Given the description of an element on the screen output the (x, y) to click on. 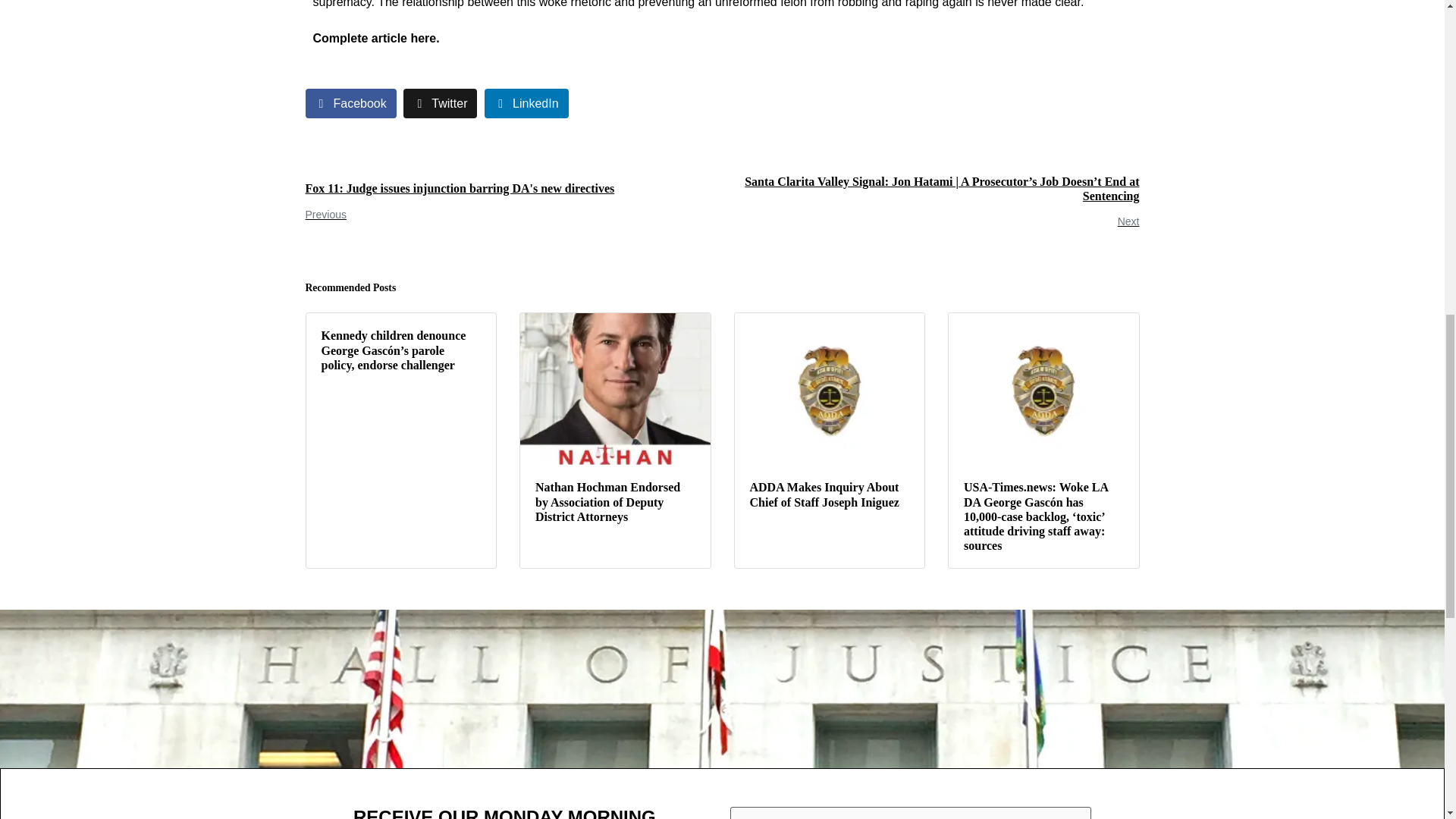
Twitter (440, 102)
Fox 11: Judge issues injunction barring DA's new directives (508, 203)
Complete article here. (376, 38)
Facebook (350, 102)
LinkedIn (526, 102)
